Given the description of an element on the screen output the (x, y) to click on. 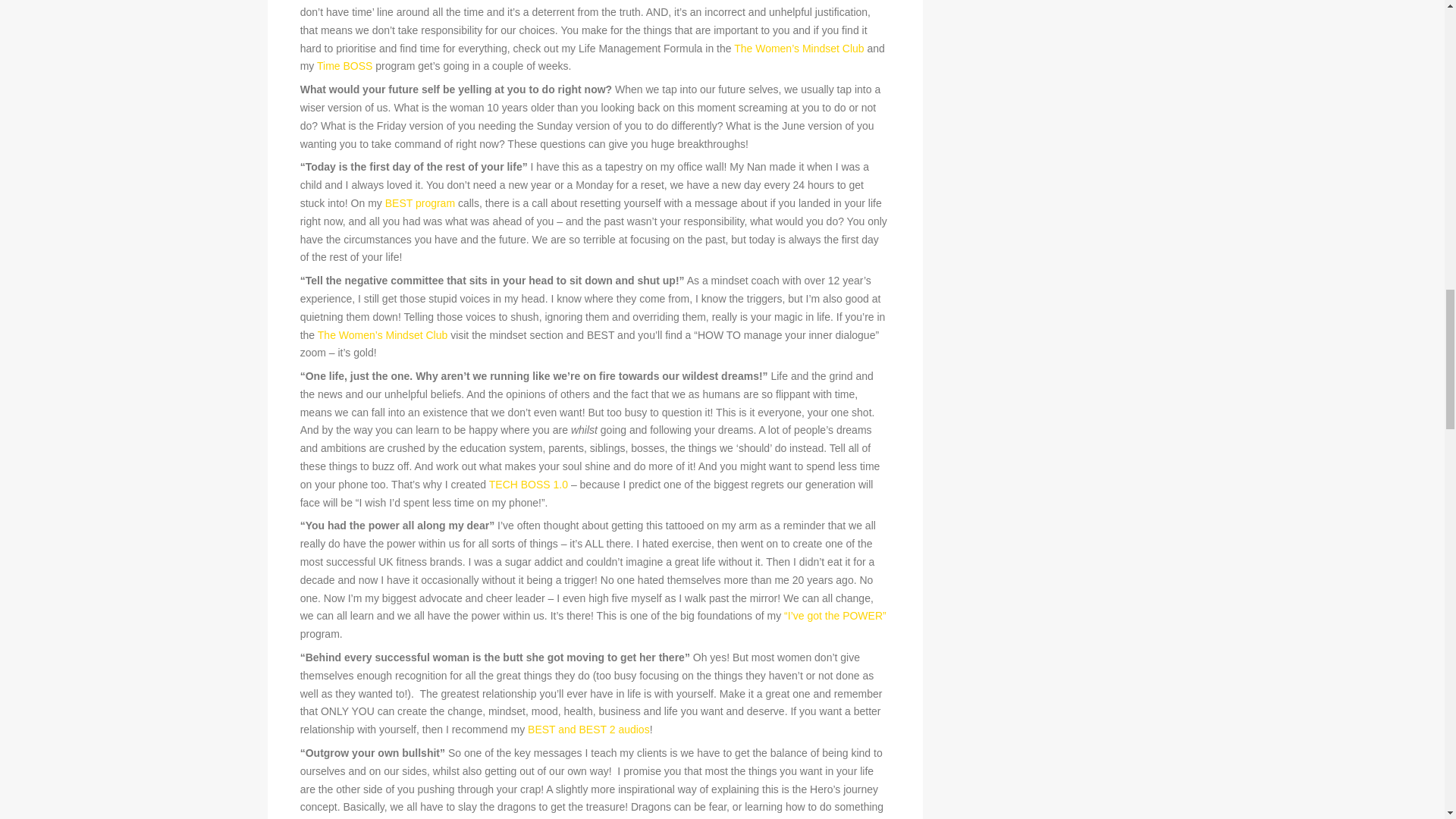
Time BOSS (344, 65)
BEST and BEST 2 audios (588, 729)
BEST program (419, 203)
TECH BOSS 1.0 (528, 484)
